Given the description of an element on the screen output the (x, y) to click on. 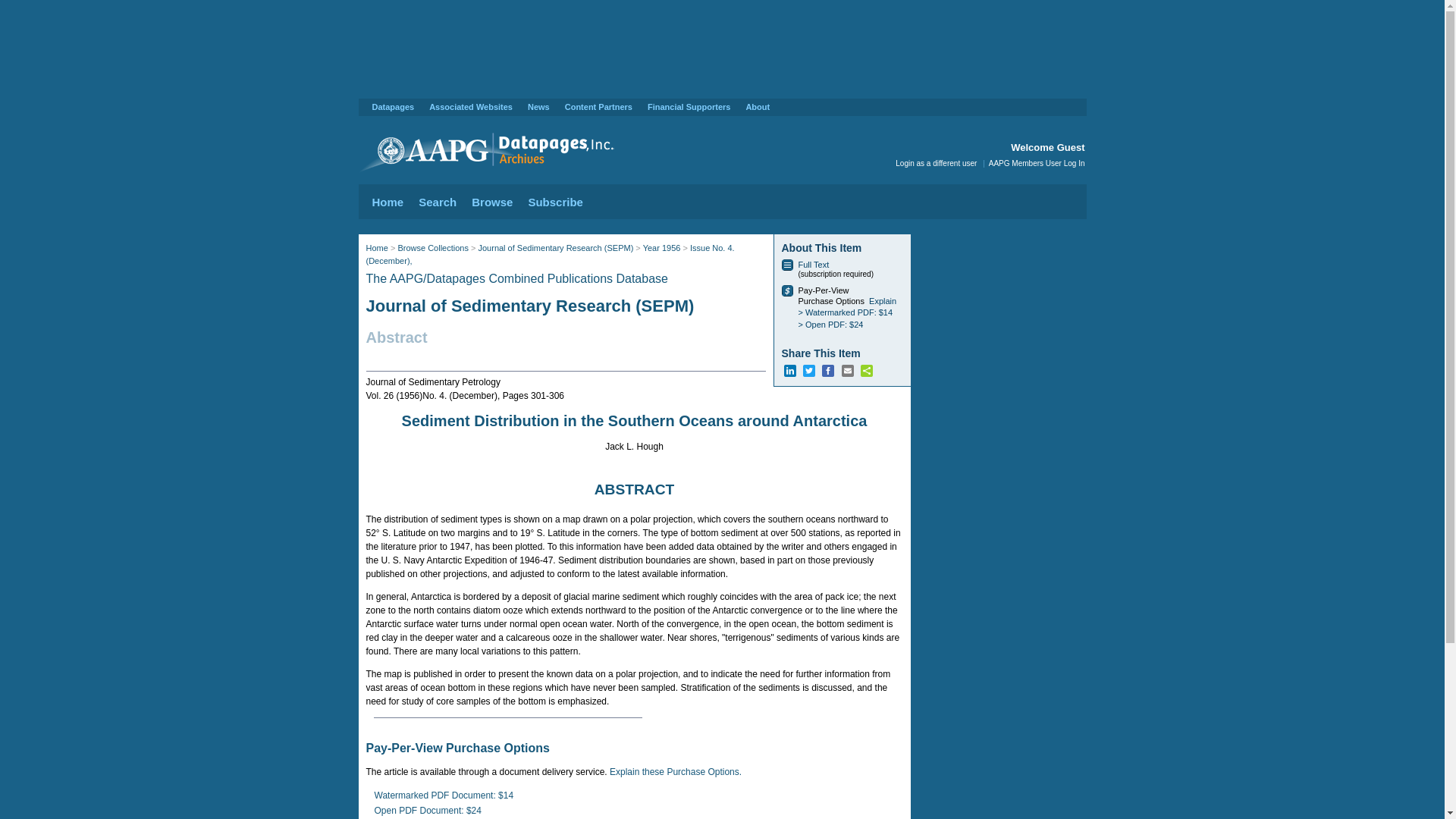
About (757, 106)
Browse (491, 201)
Associated Websites (470, 106)
Login as a different user (935, 162)
Content Partners (597, 106)
Financial Supporters (688, 106)
Home (387, 201)
AAPG Members User Log In (1036, 162)
Search (438, 201)
